Given the description of an element on the screen output the (x, y) to click on. 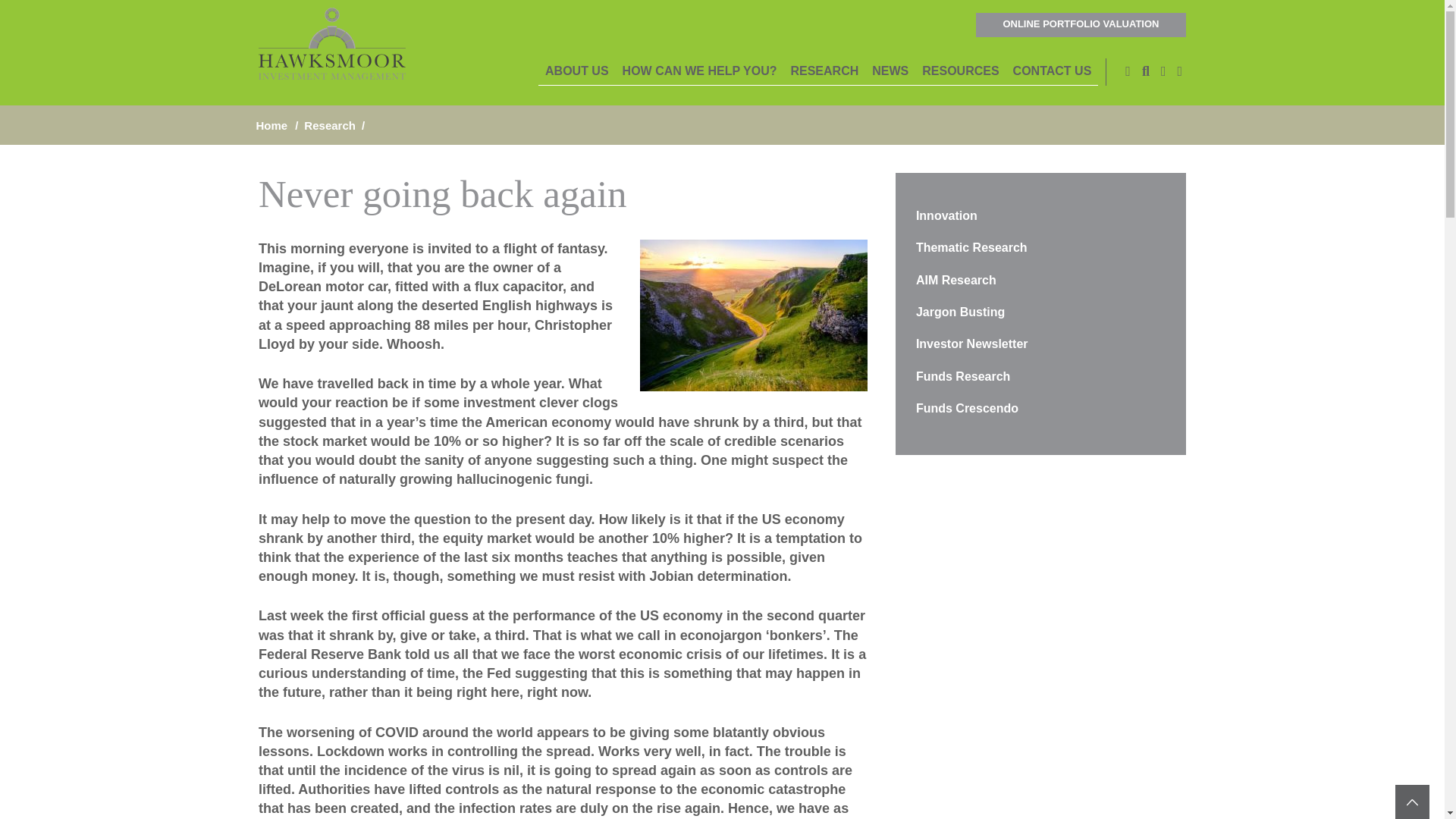
HOW CAN WE HELP YOU? (699, 71)
CONTACT US (1052, 71)
ABOUT US (576, 71)
RESOURCES (960, 71)
RESEARCH (823, 71)
How can we help you? (699, 71)
Research (823, 71)
NEWS (889, 71)
About Us (576, 71)
